Given the description of an element on the screen output the (x, y) to click on. 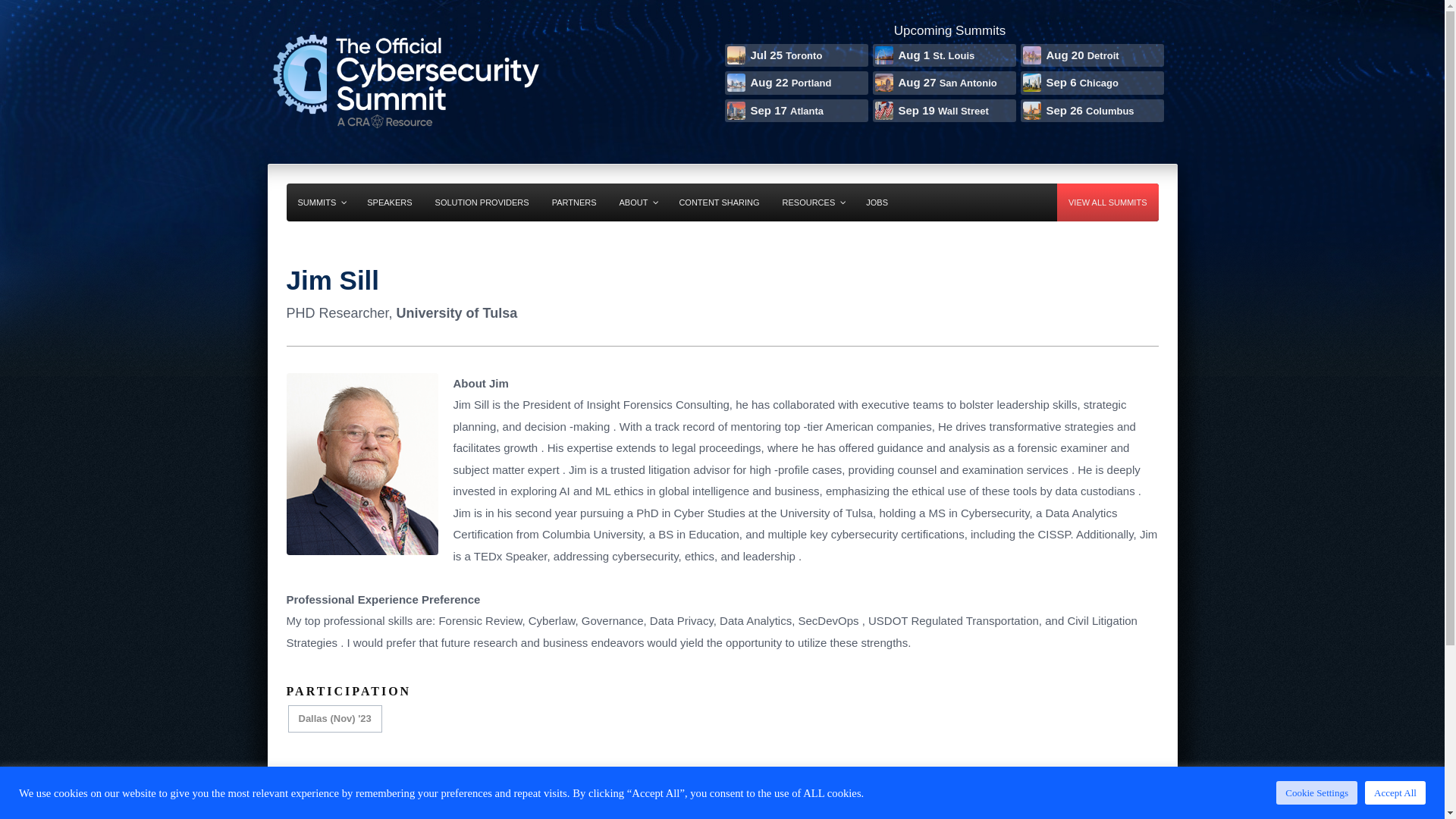
Sep 6 Chicago (1091, 83)
Aug 1 St. Louis (944, 55)
Jul 25 Toronto (795, 55)
SUMMITS (321, 202)
Aug 27 San Antonio (944, 83)
Sep 19 Wall Street (944, 111)
Sep 26 Columbus (1091, 111)
Sep 17 Atlanta (795, 111)
Aug 22 Portland (795, 83)
Aug 20 Detroit (1091, 55)
